Given the description of an element on the screen output the (x, y) to click on. 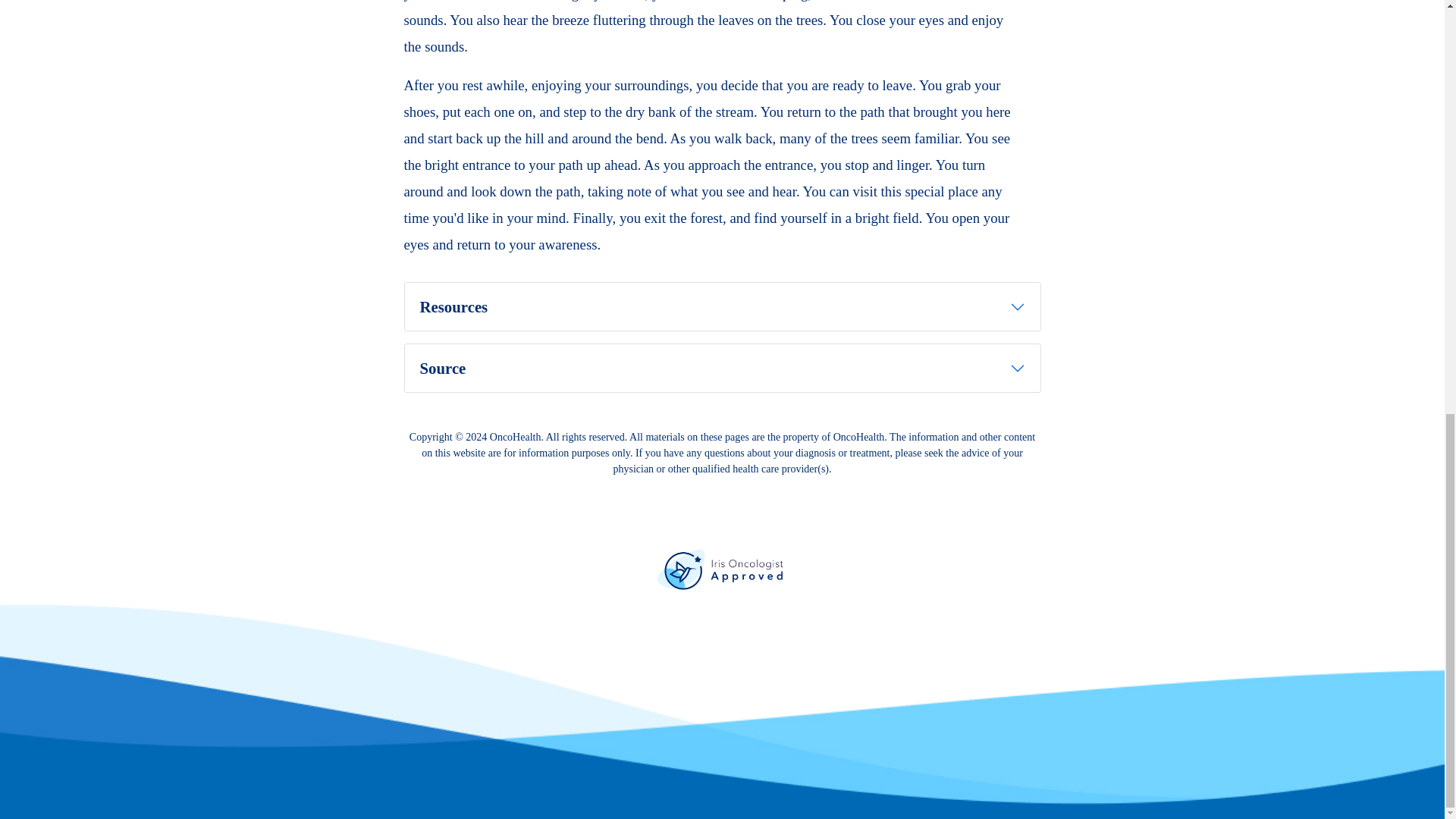
Source (722, 367)
Resources (722, 306)
